Given the description of an element on the screen output the (x, y) to click on. 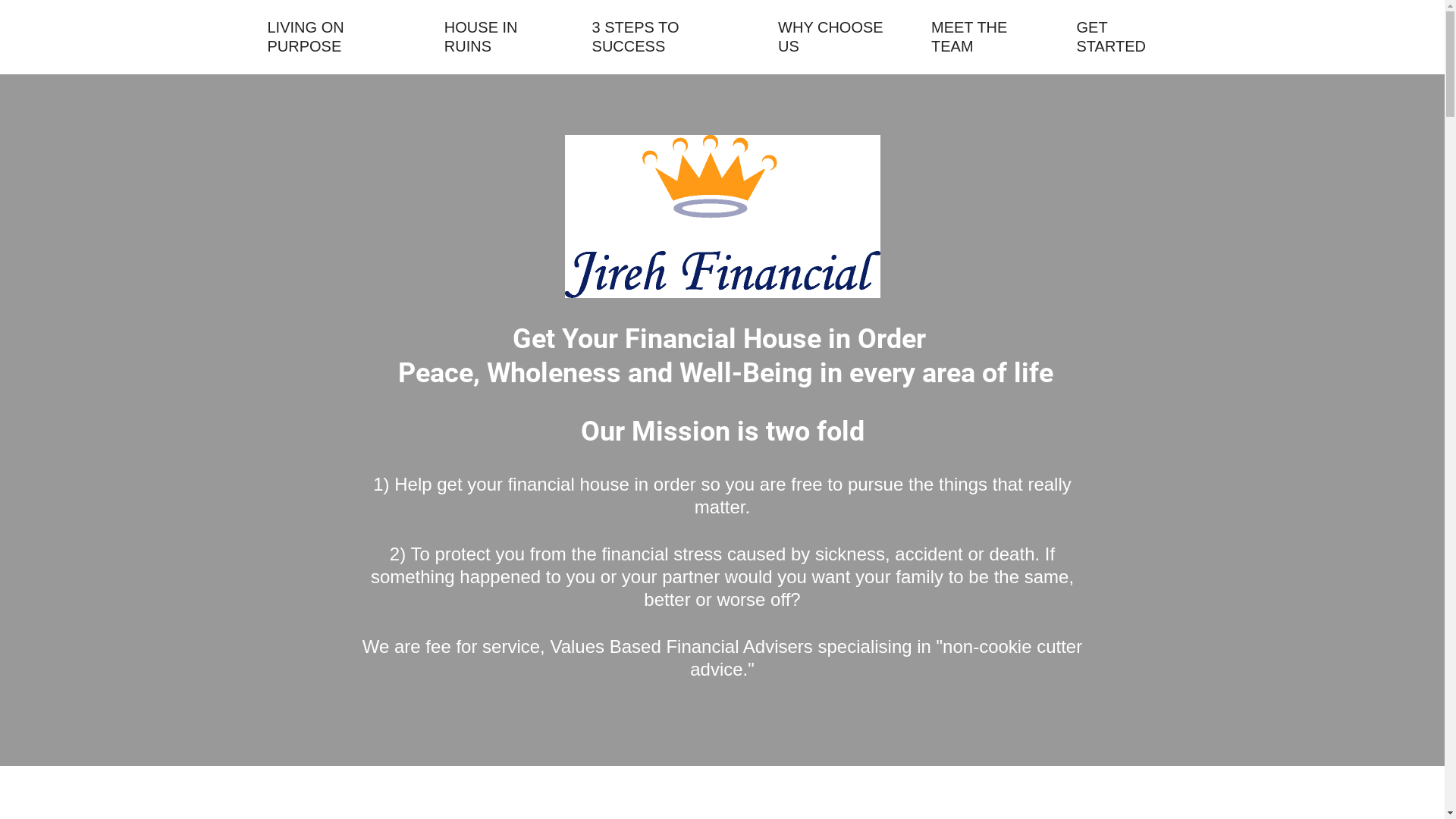
LIVING ON PURPOSE Element type: text (341, 37)
GET STARTED Element type: text (1126, 37)
3 STEPS TO SUCCESS Element type: text (671, 37)
WHY CHOOSE US Element type: text (840, 37)
HOUSE IN RUINS Element type: text (504, 37)
MEET THE TEAM Element type: text (990, 37)
